Given the description of an element on the screen output the (x, y) to click on. 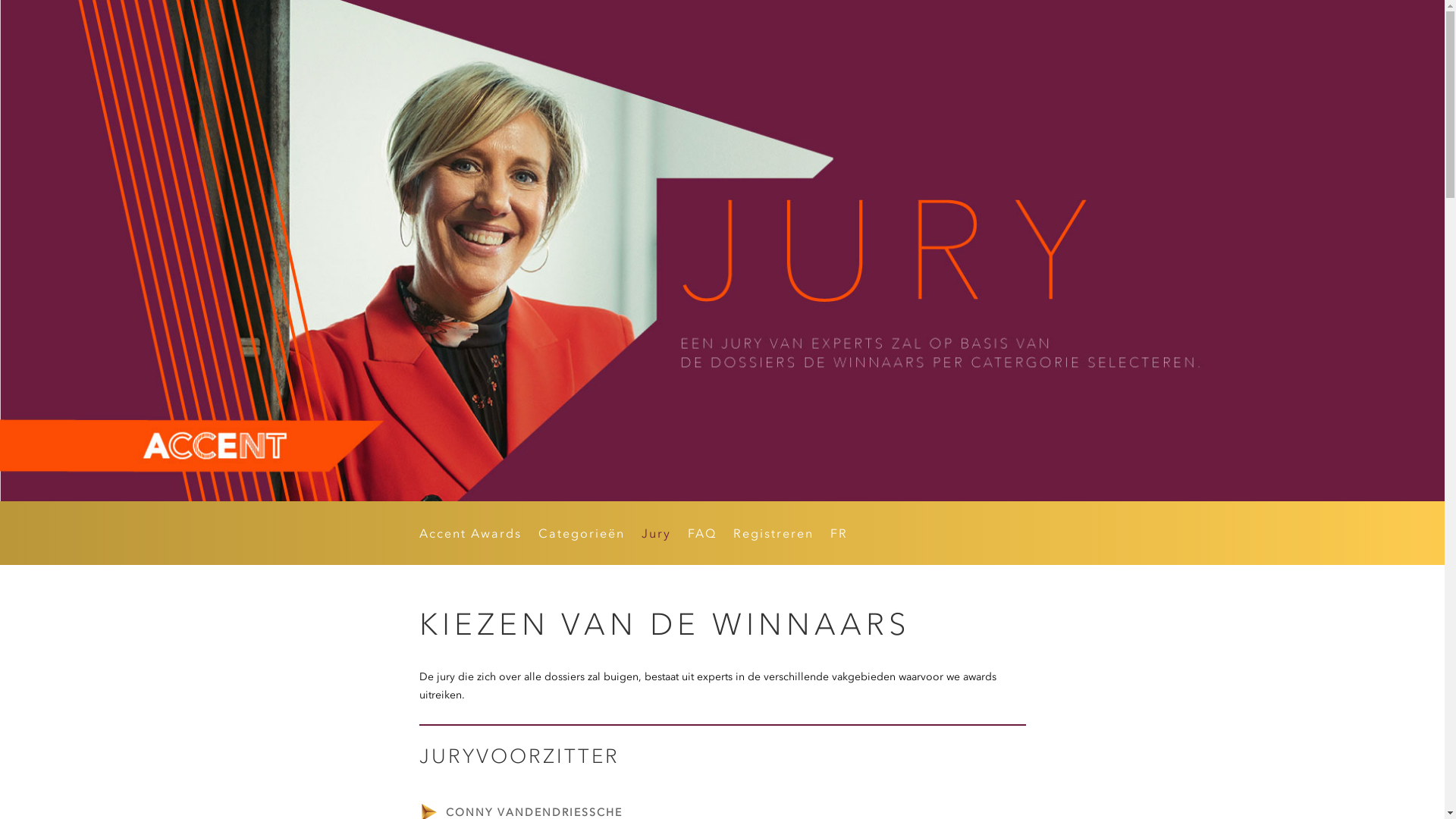
FR Element type: text (838, 535)
Jury Element type: text (656, 535)
Registreren Element type: text (772, 535)
FAQ Element type: text (701, 535)
Accent Awards Element type: text (469, 535)
Accent Awards Jury Element type: hover (722, 250)
